Given the description of an element on the screen output the (x, y) to click on. 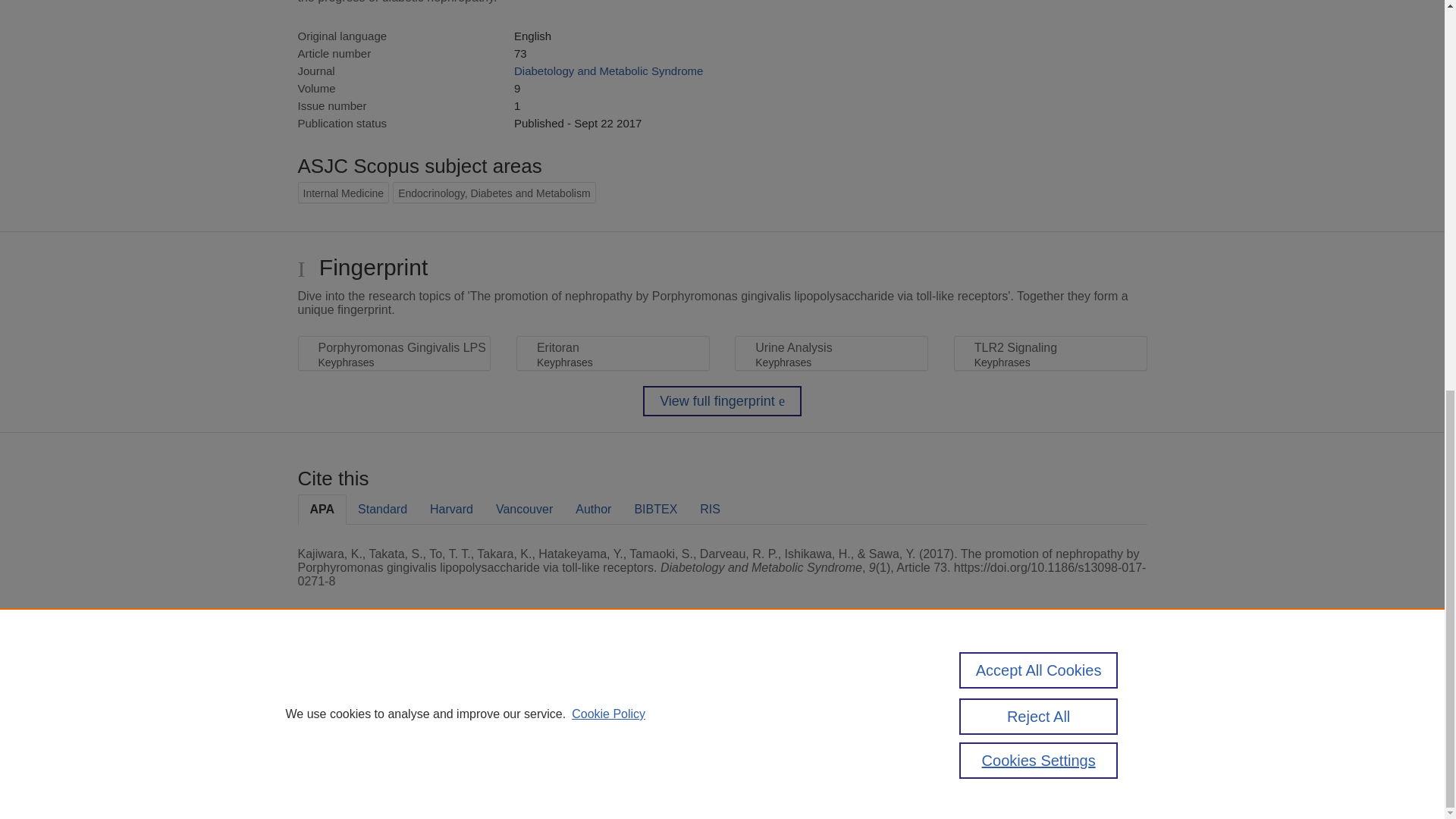
Diabetology and Metabolic Syndrome (608, 70)
use of cookies (796, 739)
Pure (362, 686)
View full fingerprint (722, 400)
Elsevier B.V. (506, 707)
Scopus (394, 686)
